Given the description of an element on the screen output the (x, y) to click on. 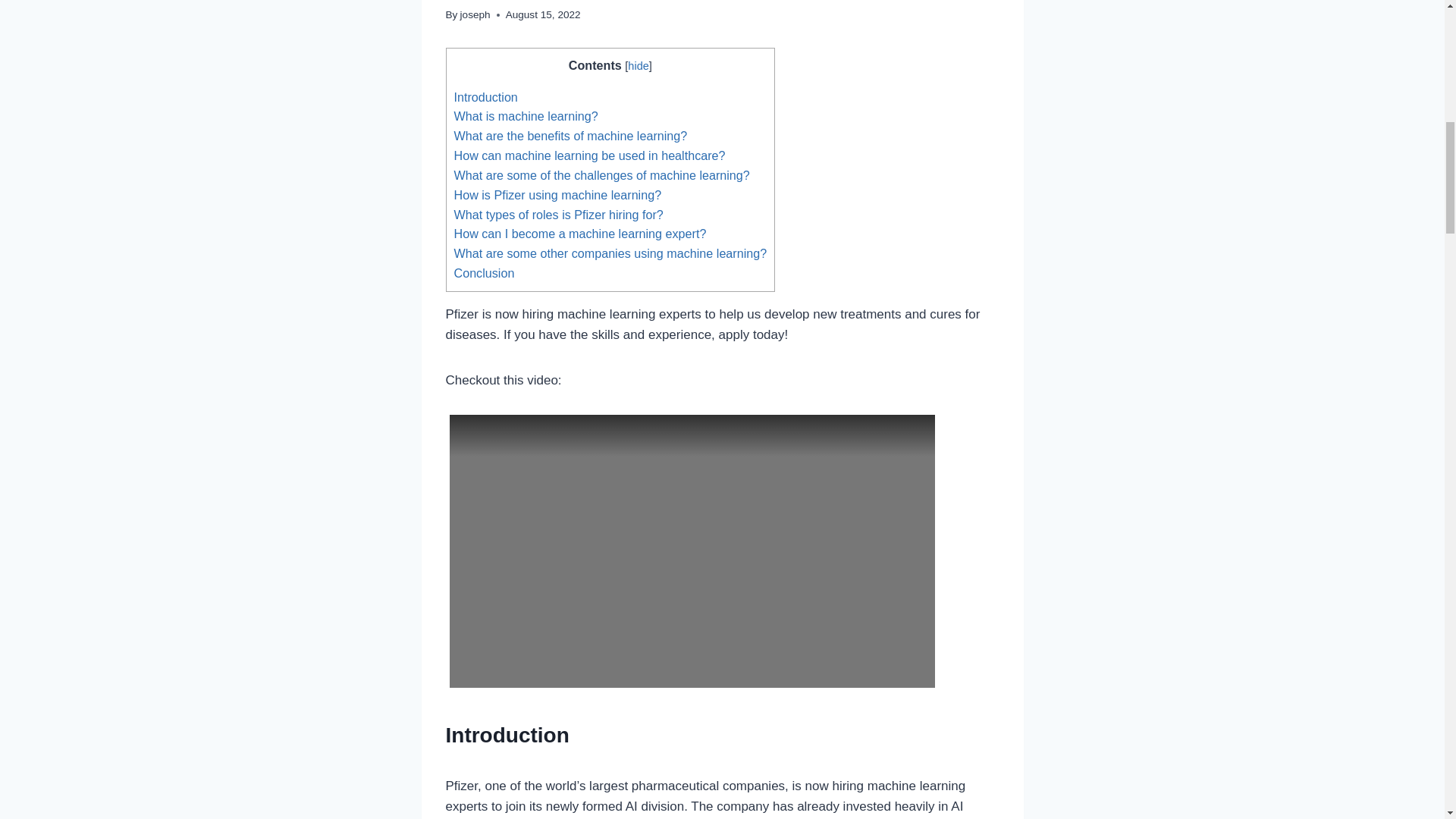
What are some other companies using machine learning? (609, 253)
hide (637, 65)
How can machine learning be used in healthcare? (588, 155)
What is machine learning? (524, 115)
How can I become a machine learning expert? (579, 233)
Conclusion (482, 273)
joseph (475, 14)
How is Pfizer using machine learning? (556, 194)
Introduction (484, 97)
What are some of the challenges of machine learning? (600, 174)
What types of roles is Pfizer hiring for? (557, 214)
What are the benefits of machine learning? (569, 135)
